Given the description of an element on the screen output the (x, y) to click on. 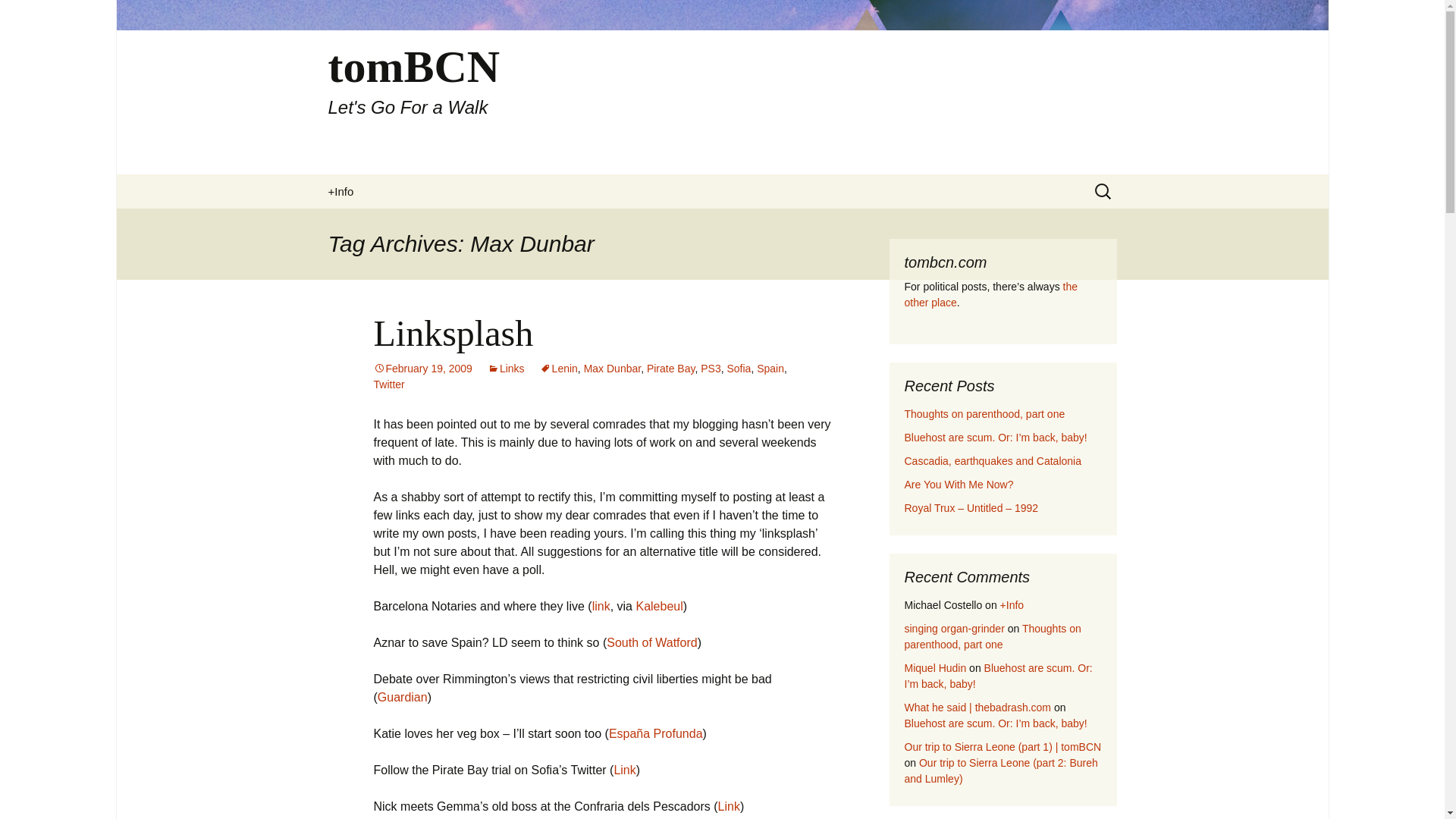
Permalink to Linksplash (421, 368)
the other place (990, 294)
Kalebeul (658, 605)
South of Watford (738, 368)
Skip to content (652, 642)
Miquel Hudin (984, 413)
Link (935, 667)
PS3 (728, 806)
Twitter (710, 368)
Pirate Bay (388, 384)
Guardian (670, 368)
Link (402, 697)
